Given the description of an element on the screen output the (x, y) to click on. 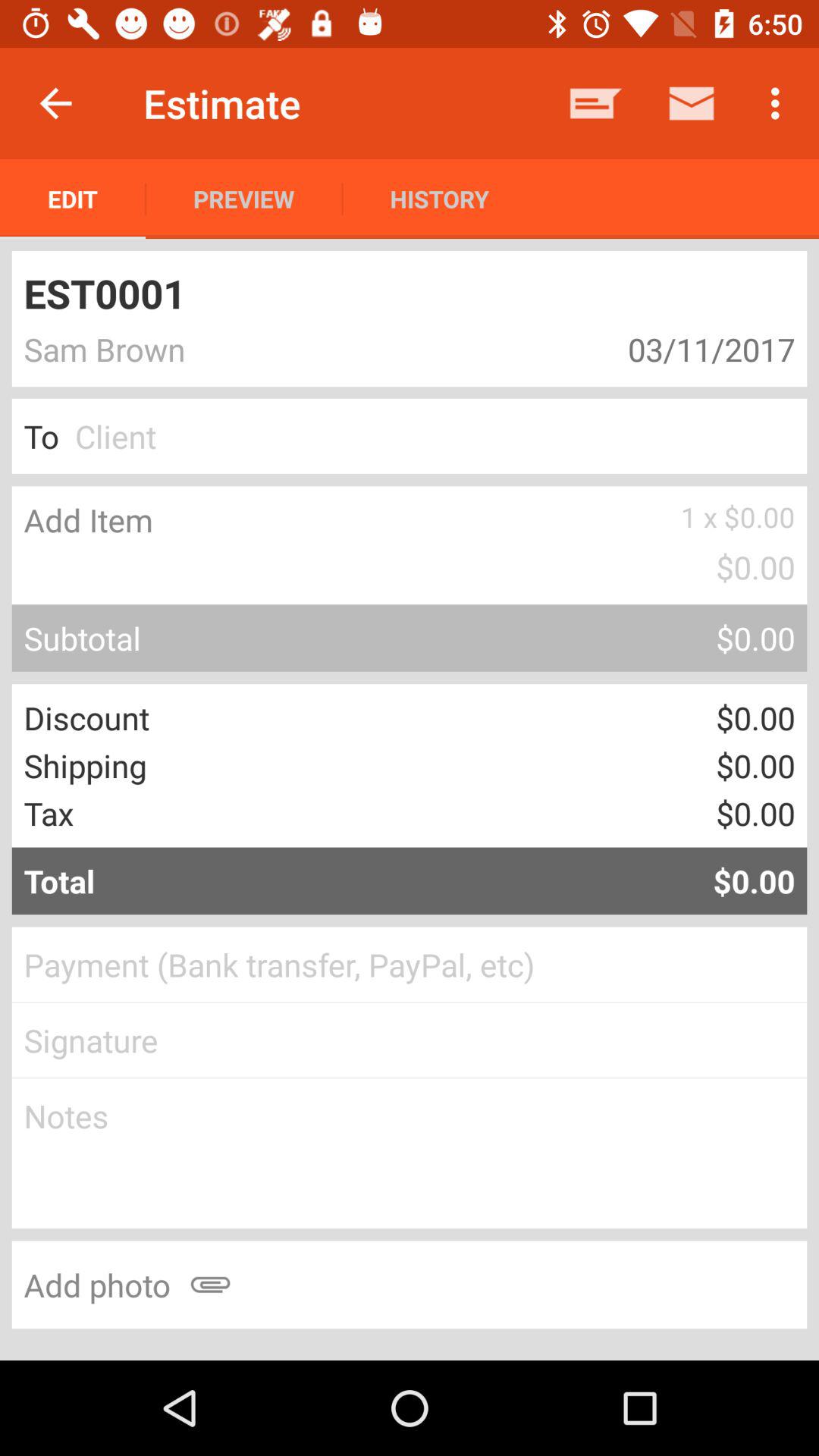
press history (439, 198)
